Given the description of an element on the screen output the (x, y) to click on. 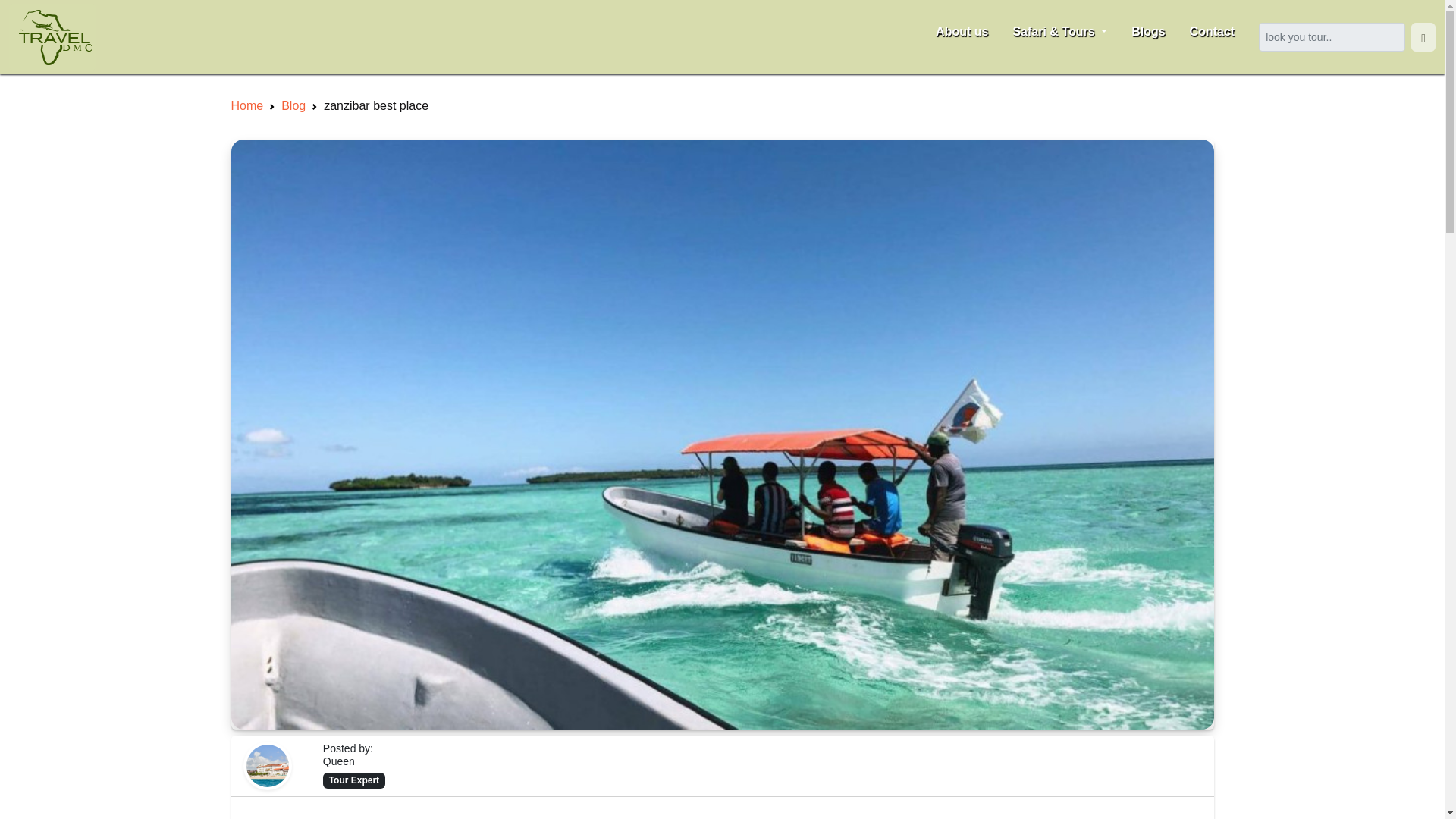
Contact (1212, 31)
Blogs (1147, 31)
Home (246, 105)
Blog (293, 105)
About us (961, 31)
